Given the description of an element on the screen output the (x, y) to click on. 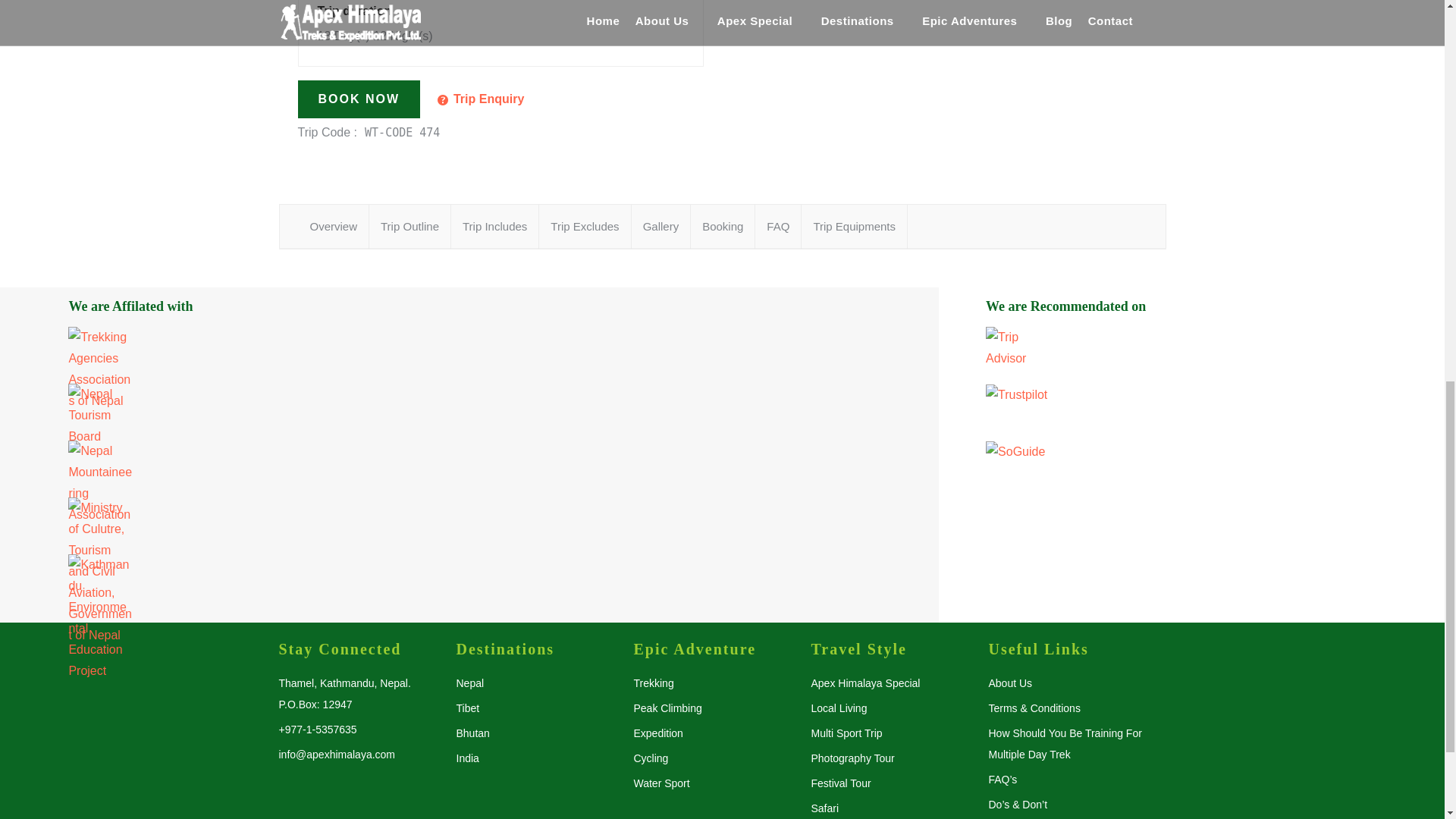
Trustpilot (1191, 412)
Nepal Tourism Board (468, 412)
Nepal Tourism Board (100, 415)
Trip Advisor (1017, 347)
Nepal Mountaineering Association (468, 468)
Kathmandu Environmental Education Project (468, 582)
Trekking Agencies Associations of Nepal (468, 355)
Trip Advisor (1191, 355)
